Given the description of an element on the screen output the (x, y) to click on. 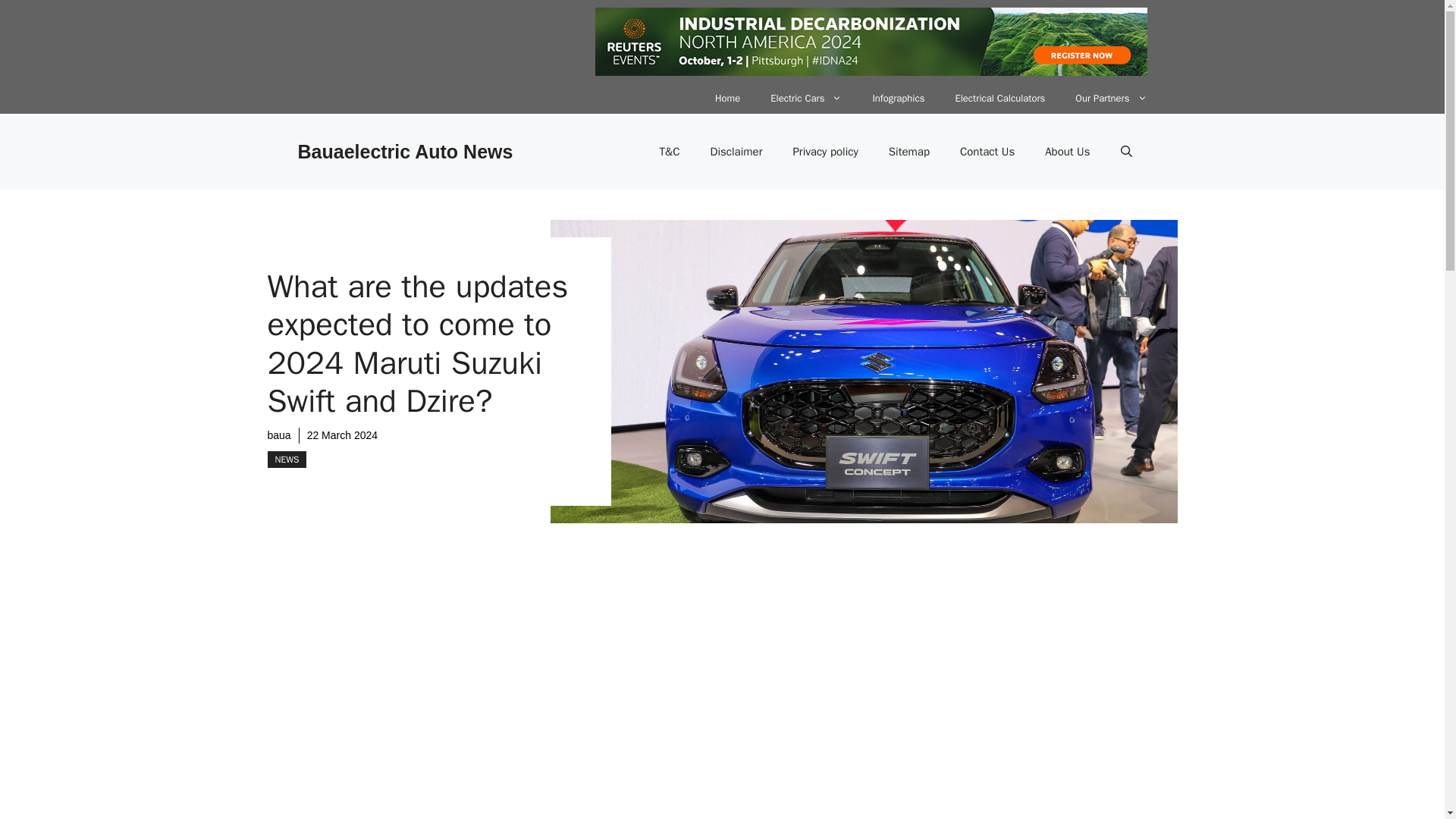
Bauaelectric Auto News (404, 151)
Home (727, 98)
Electric Cars (806, 98)
Advertisement (600, 703)
Our Partners (1110, 98)
Sitemap (908, 151)
Infographics (898, 98)
Advertisement (1027, 716)
Privacy policy (824, 151)
Disclaimer (736, 151)
Electrical Calculators (999, 98)
